Given the description of an element on the screen output the (x, y) to click on. 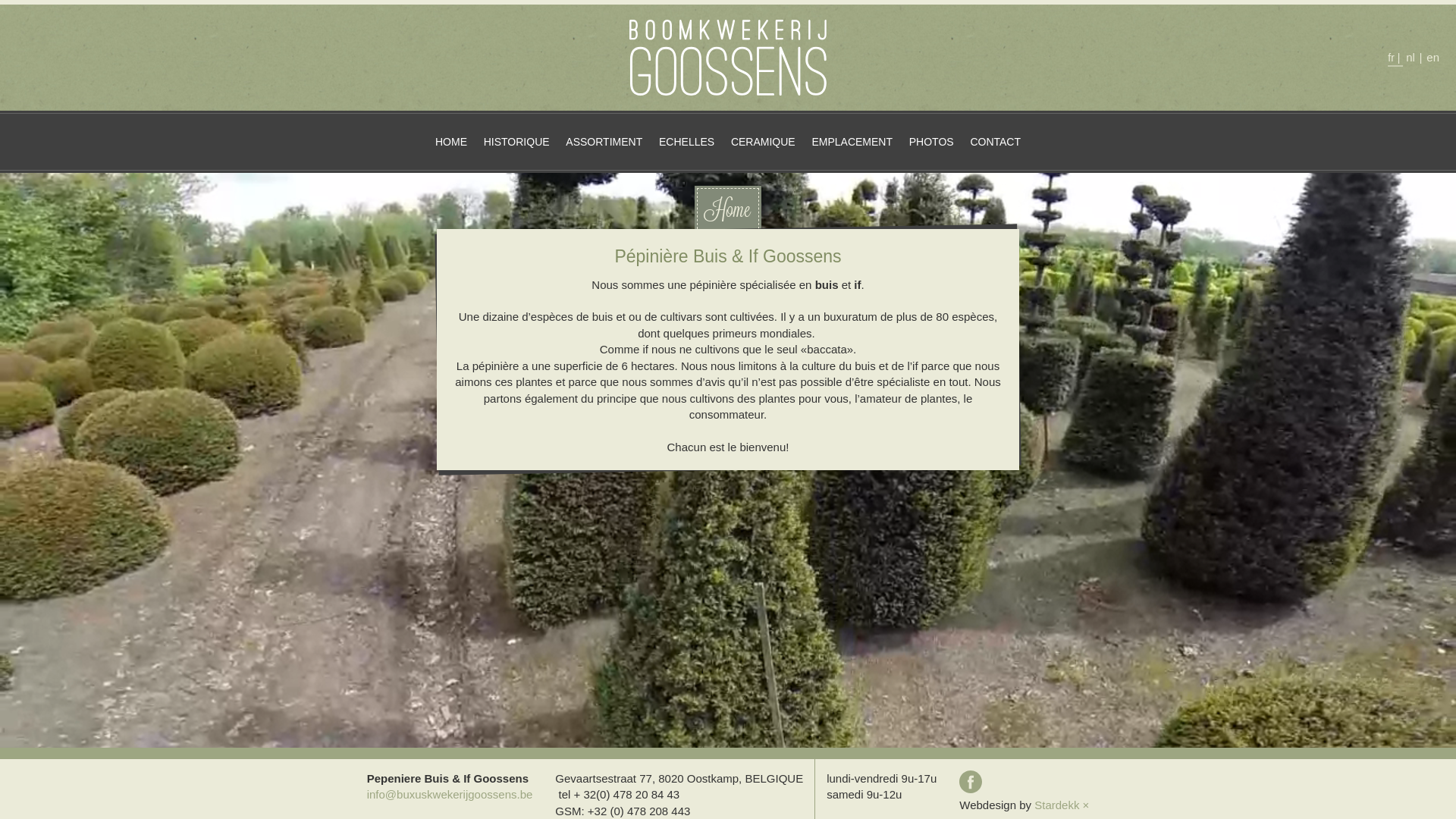
nl Element type: text (1410, 56)
ECHELLES Element type: text (686, 141)
CONTACT Element type: text (994, 141)
info@buxuskwekerijgoossens.be Element type: text (450, 793)
en Element type: text (1432, 56)
EMPLACEMENT Element type: text (851, 141)
HOME Element type: text (451, 141)
HISTORIQUE Element type: text (516, 141)
PHOTOS Element type: text (931, 141)
CERAMIQUE Element type: text (763, 141)
ASSORTIMENT Element type: text (603, 141)
